Given the description of an element on the screen output the (x, y) to click on. 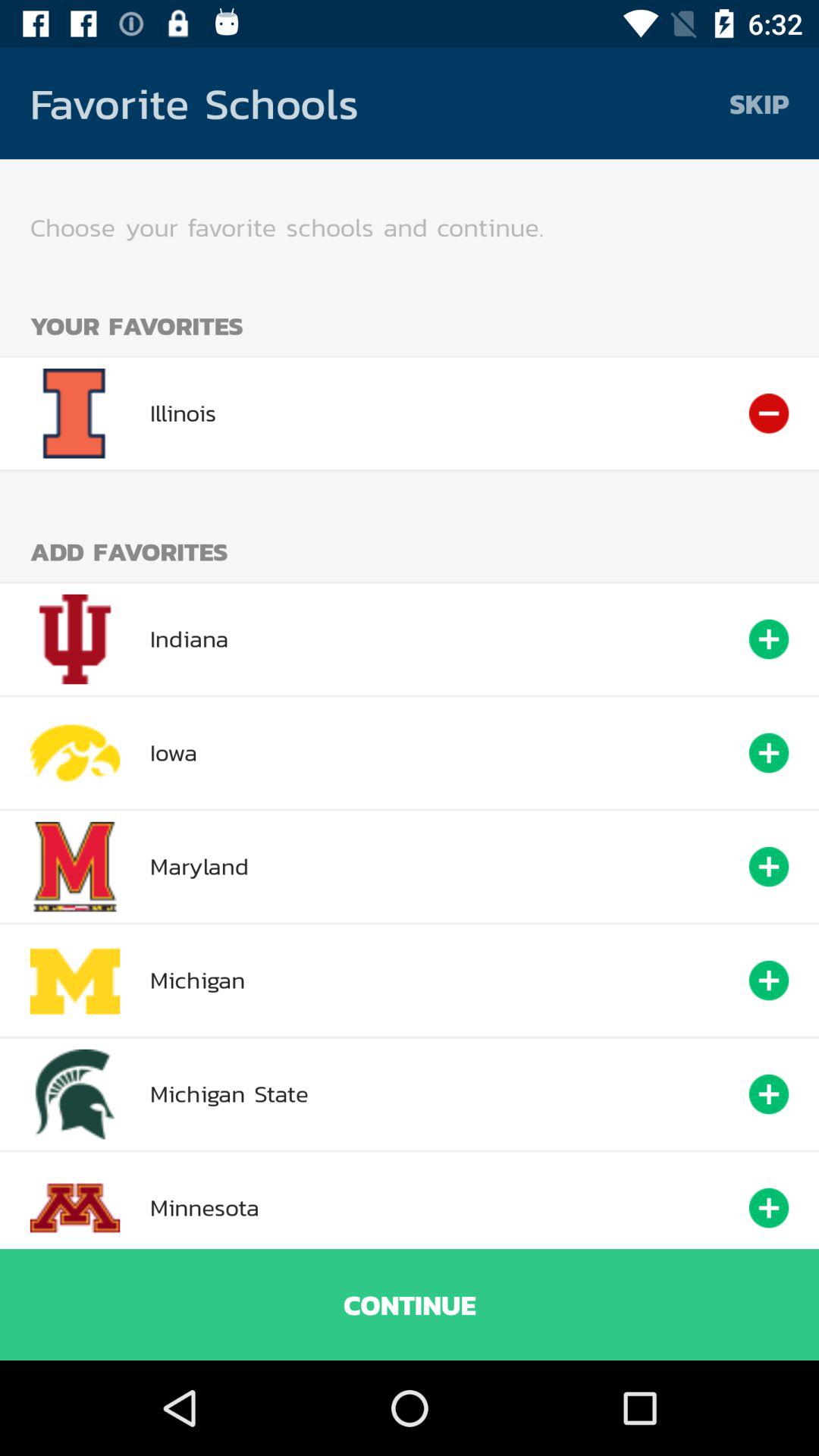
jump until the skip (758, 103)
